Given the description of an element on the screen output the (x, y) to click on. 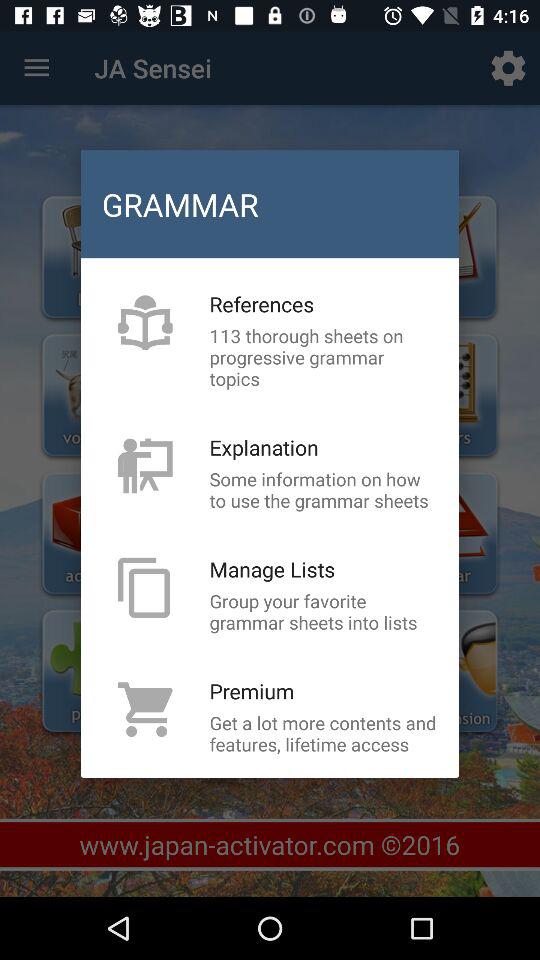
swipe to the 113 thorough sheets item (323, 357)
